Given the description of an element on the screen output the (x, y) to click on. 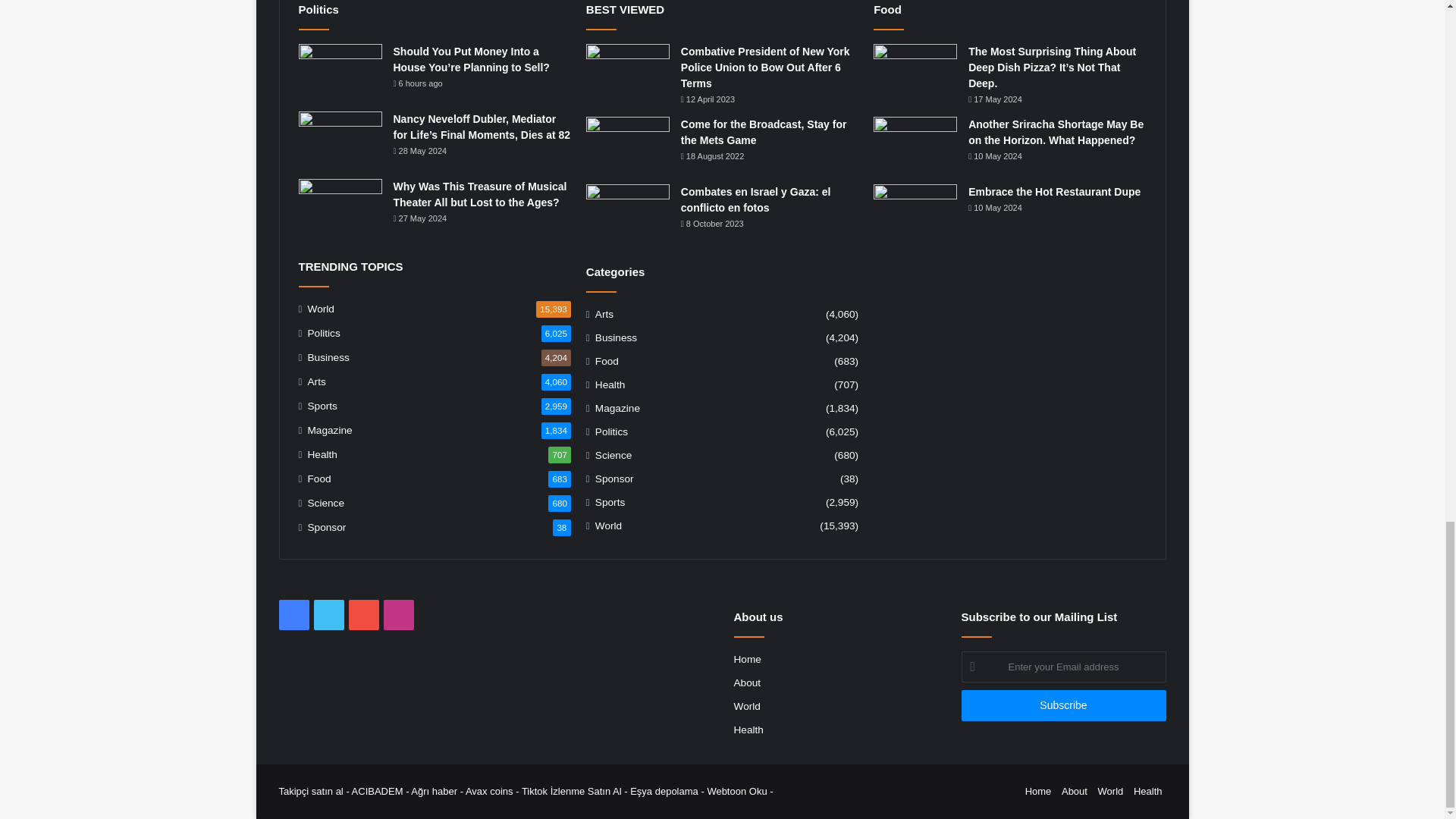
Subscribe (1063, 705)
